Given the description of an element on the screen output the (x, y) to click on. 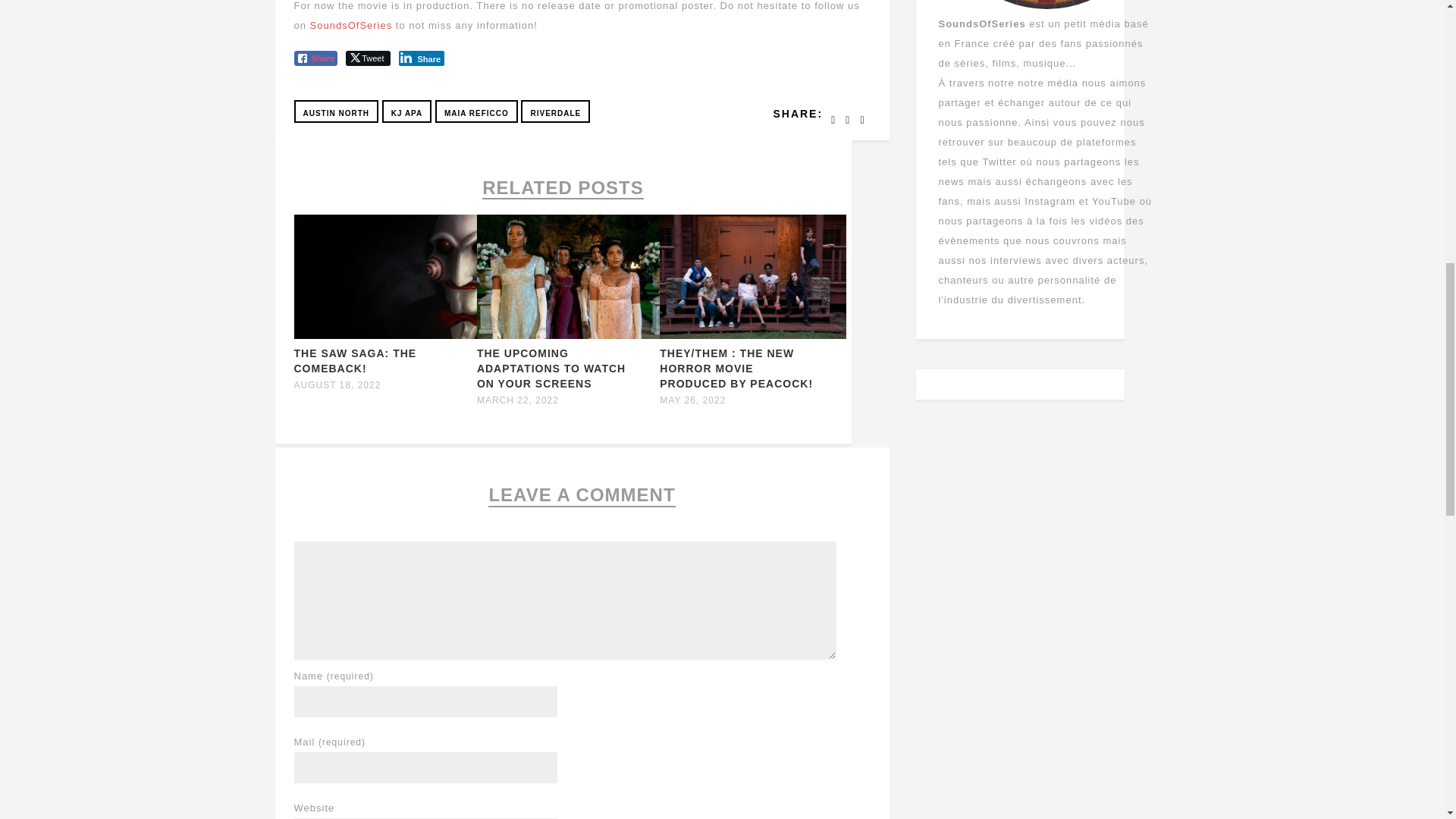
Permanent Link to The SAW Saga: The comeback! (387, 335)
Permanent Link to The SAW Saga: The comeback! (355, 360)
